Given the description of an element on the screen output the (x, y) to click on. 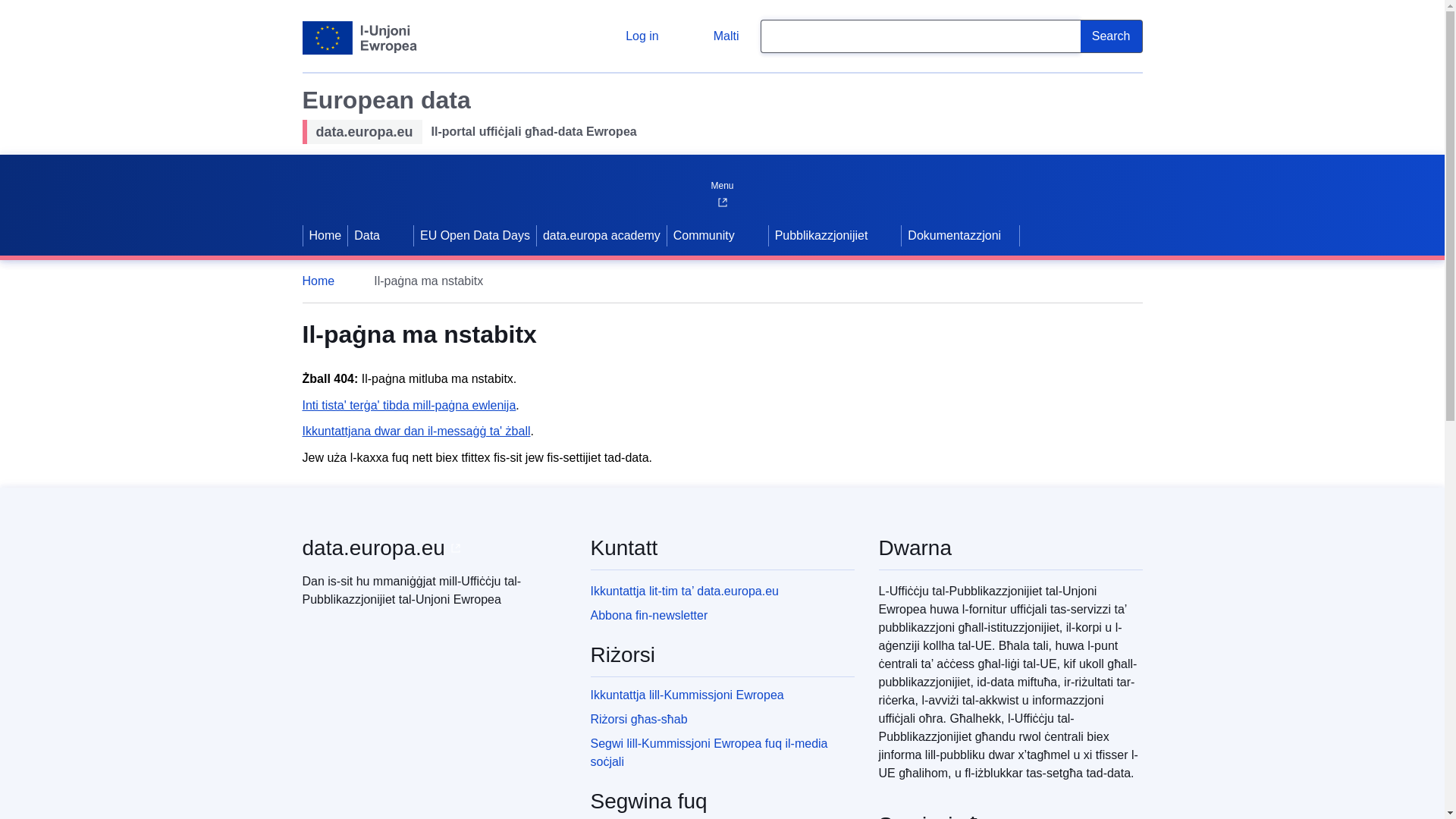
Community (702, 235)
Home (325, 280)
Search (1111, 36)
European Union (358, 37)
Dokumentazzjoni (960, 235)
Malti (714, 36)
data.europa academy (601, 235)
Home (324, 235)
EU Open Data Days (474, 235)
Pubblikazzjonijiet (819, 235)
Menu (721, 181)
Log in (630, 36)
